Given the description of an element on the screen output the (x, y) to click on. 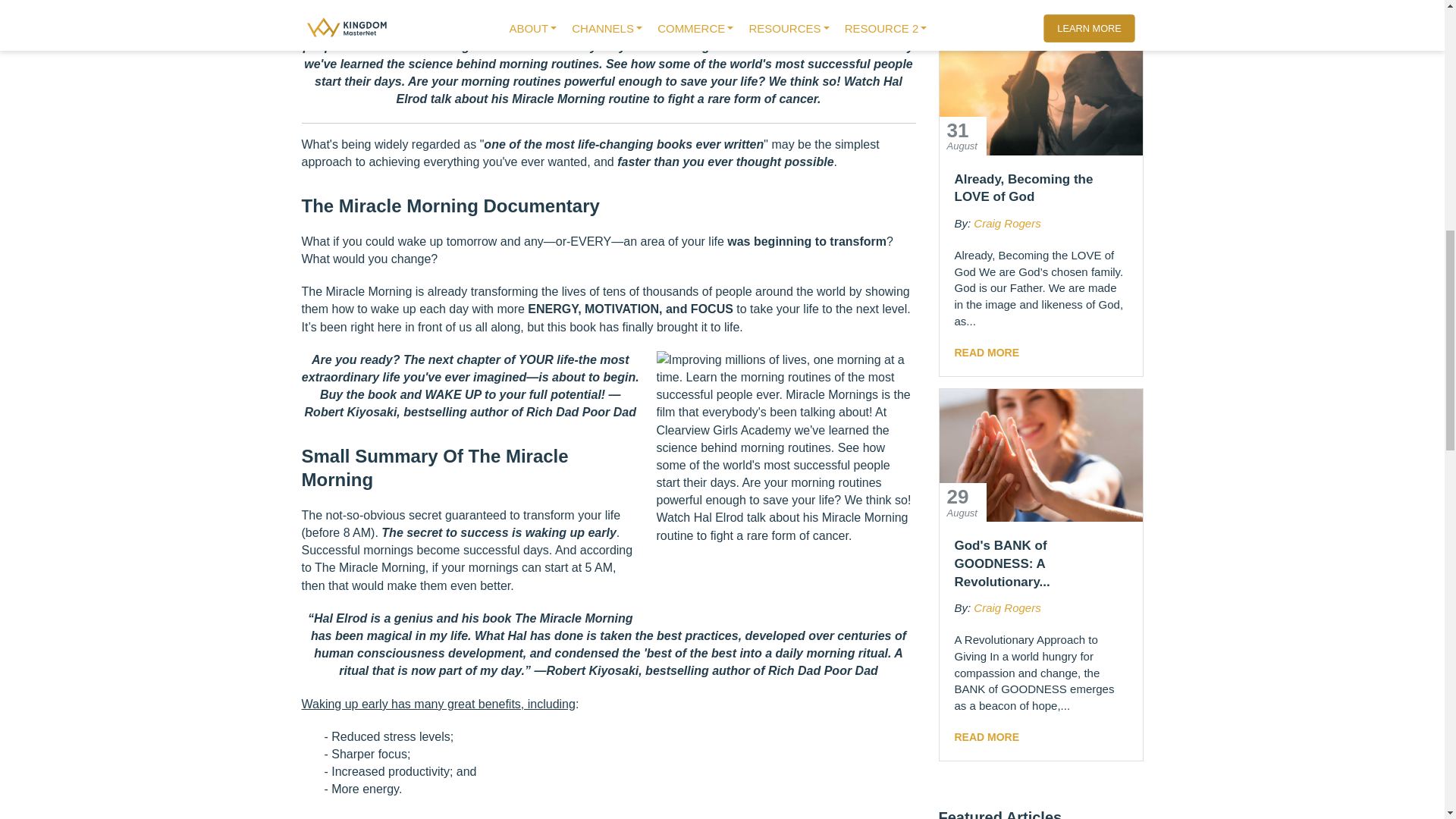
God's BANK of GOODNESS: A Revolutionary Approach to Giving (1040, 455)
Already, Becoming the LOVE of God (1040, 88)
Featured Articles (1000, 814)
Achieve Your Goals with Hal Elrod (777, 480)
